Given the description of an element on the screen output the (x, y) to click on. 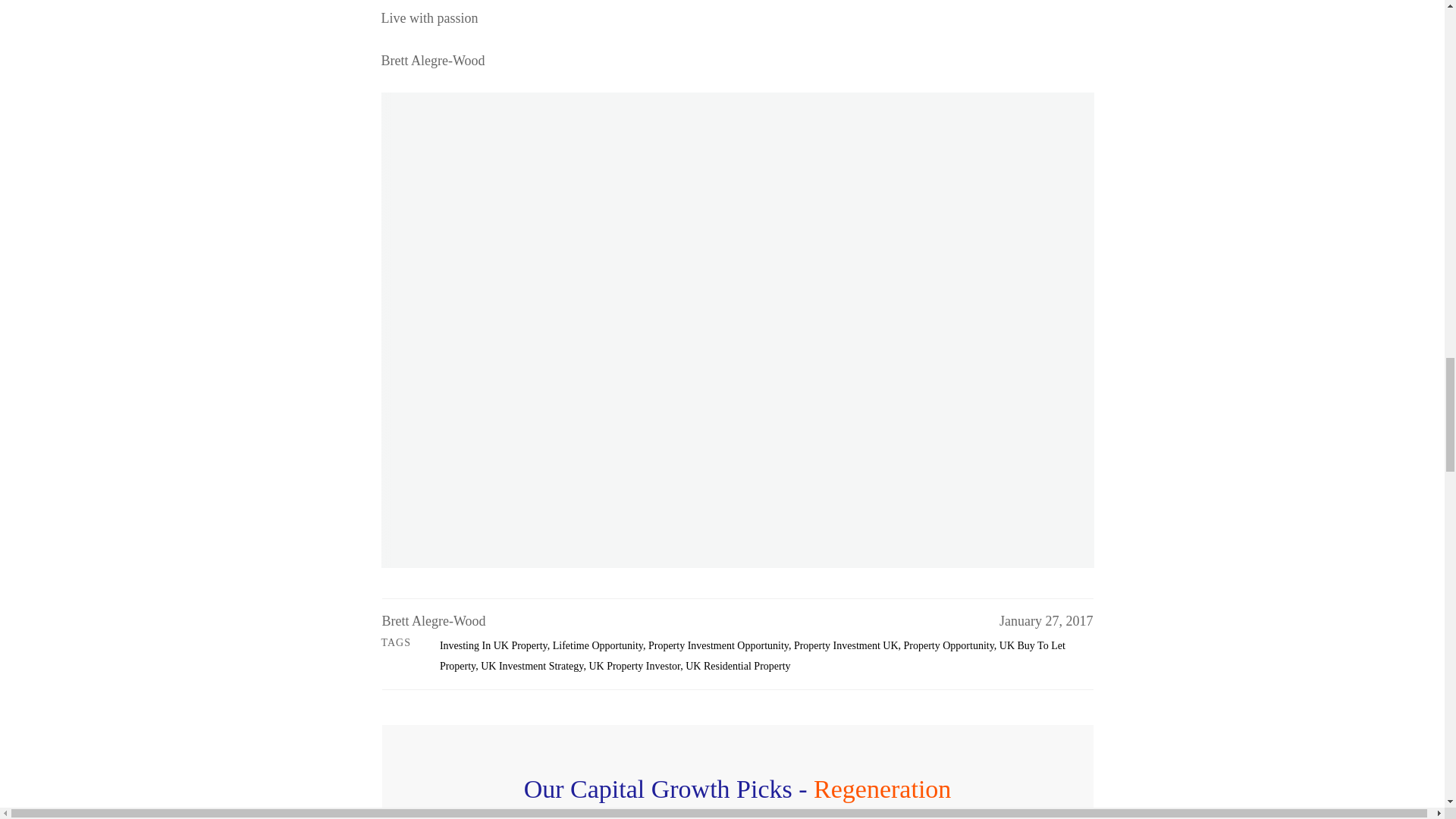
Lifetime Opportunity (598, 645)
UK Buy To Let Property (752, 655)
UK Residential Property (737, 665)
Property Investment Opportunity (718, 645)
Property Investment UK (845, 645)
UK Property Investor (633, 665)
Property Investment UK (845, 645)
UK Investment Strategy (531, 665)
Lifetime Opportunity (598, 645)
Property Opportunity (949, 645)
Investing in UK Property (493, 645)
UK Property Investor (633, 665)
UK Buy To Let Property (752, 655)
Property Opportunity (949, 645)
UK Residential Property (737, 665)
